Given the description of an element on the screen output the (x, y) to click on. 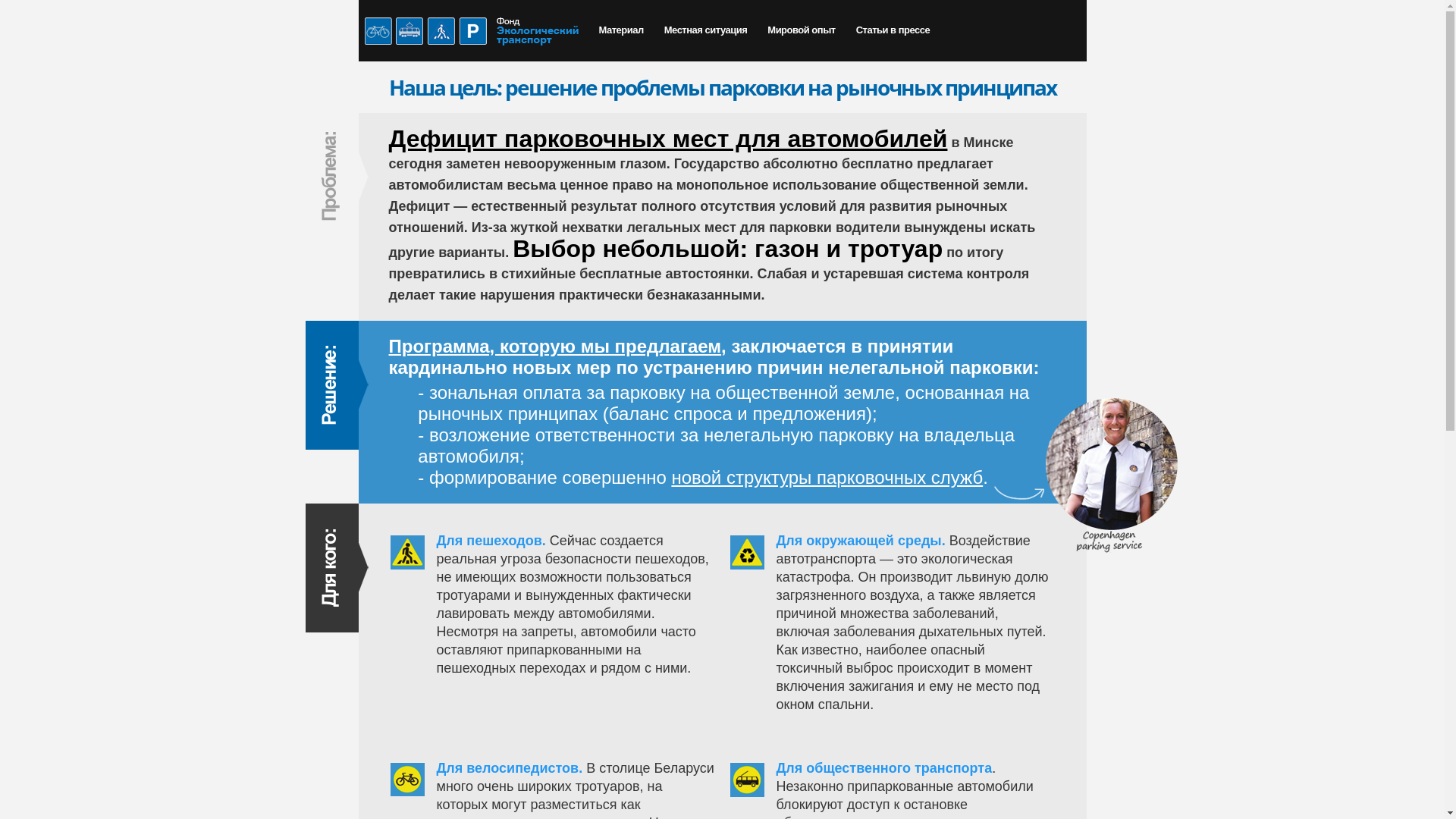
Skip to main content Element type: text (691, 1)
